Given the description of an element on the screen output the (x, y) to click on. 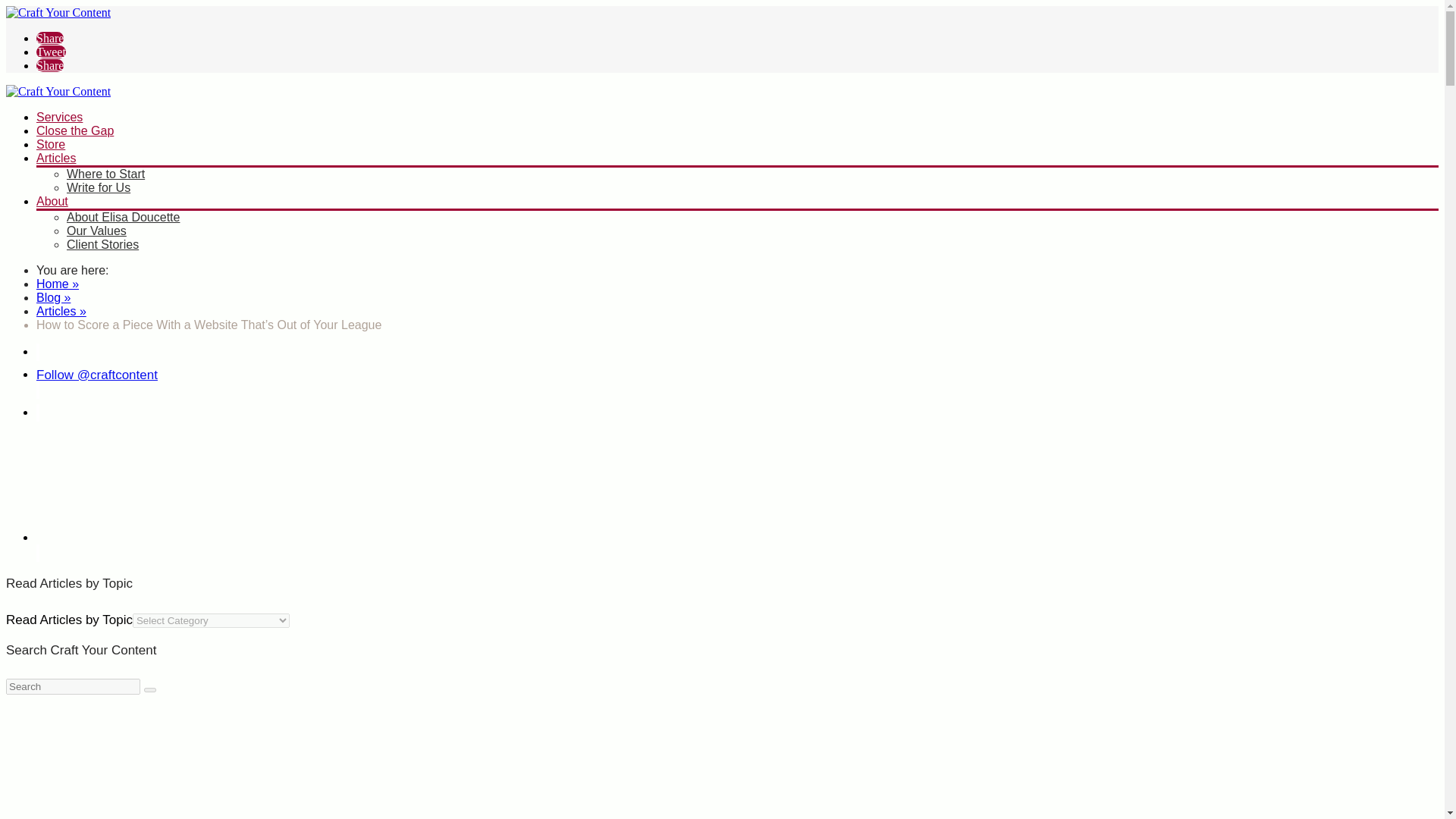
Client Stories (102, 244)
Services (59, 116)
Store (50, 144)
About (52, 201)
Tweet (50, 51)
Our Values (96, 230)
Write for Us (98, 187)
Articles (55, 157)
Close the Gap (74, 130)
Share (50, 65)
Where to Start (105, 173)
About Elisa Doucette (122, 216)
Share (50, 38)
